Given the description of an element on the screen output the (x, y) to click on. 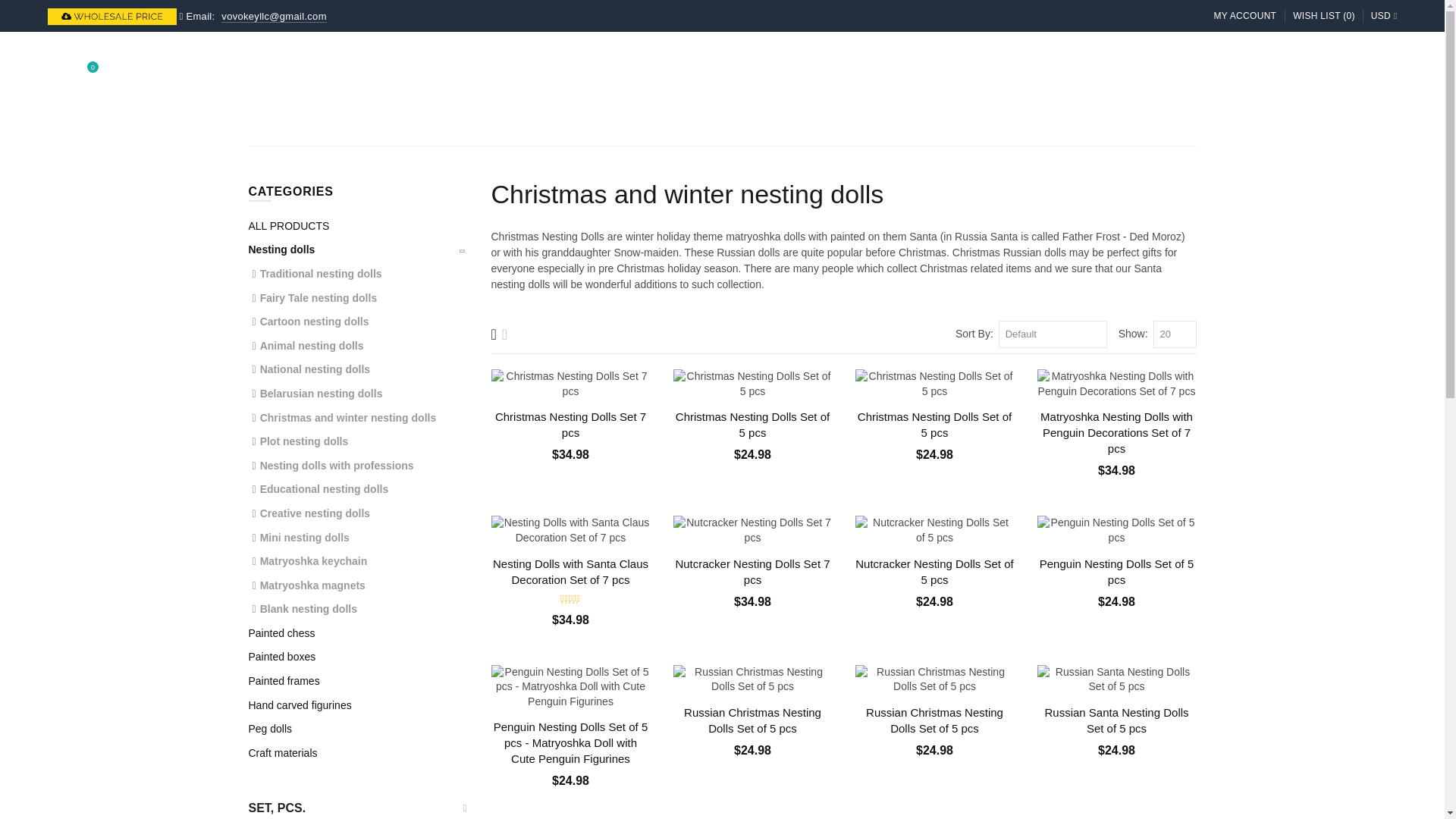
My Account (1244, 16)
Christmas Nesting Dolls Set 7 pcs (571, 383)
Christmas Nesting Dolls Set of 5 pcs (935, 383)
MY ACCOUNT (1244, 16)
matryoshkaby.com (721, 74)
USD (1382, 16)
Christmas Nesting Dolls Set of 5 pcs (752, 383)
CATALOG (466, 73)
